Given the description of an element on the screen output the (x, y) to click on. 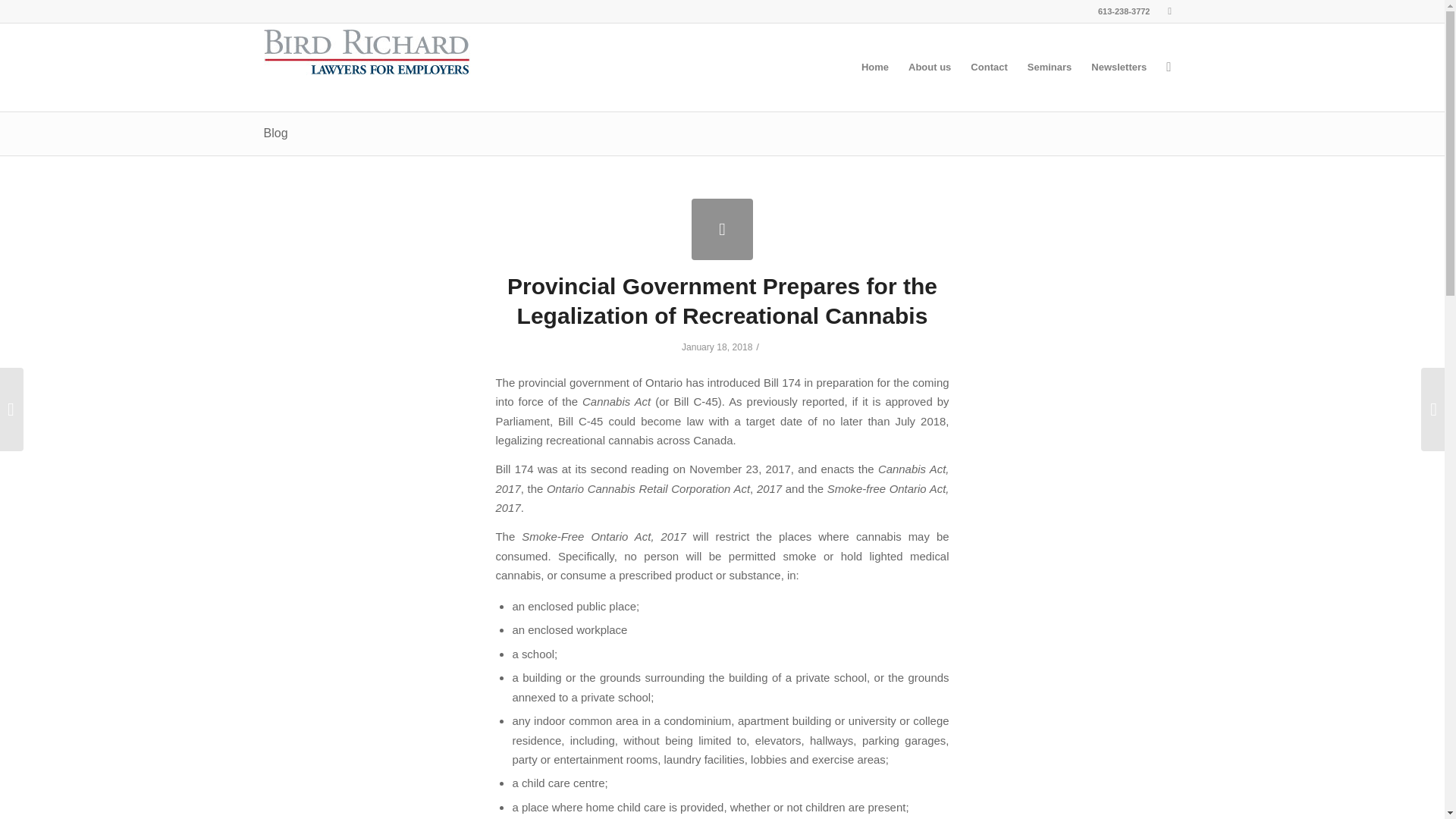
Mail (1169, 11)
Blog (275, 132)
Permanent Link: Blog (275, 132)
